Given the description of an element on the screen output the (x, y) to click on. 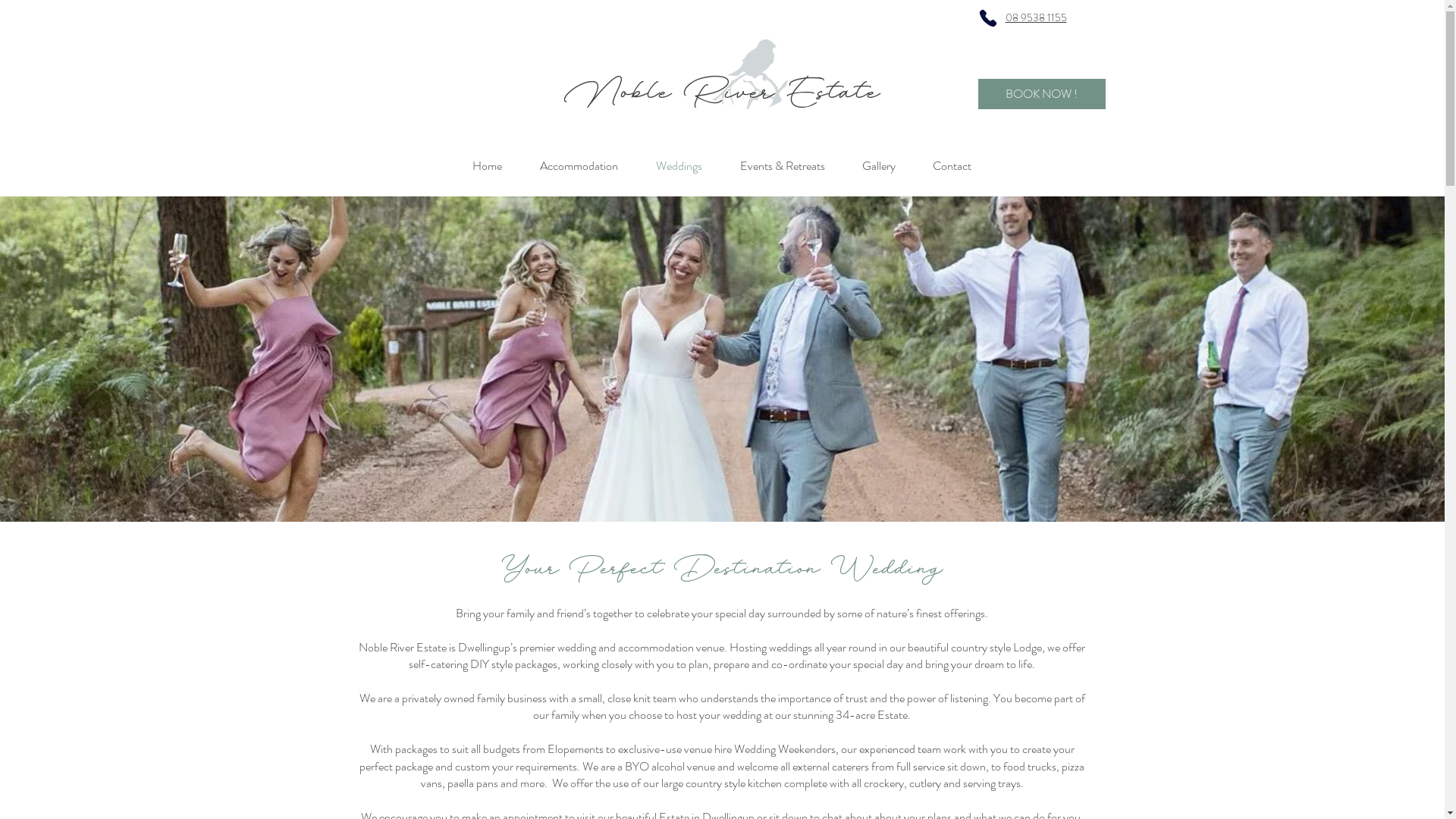
Home Element type: text (486, 165)
Weddings Element type: text (679, 165)
08 9538 1155 Element type: text (1035, 17)
Gallery Element type: text (878, 165)
Contact Element type: text (952, 165)
Accommodation Element type: text (578, 165)
BOOK NOW ! Element type: text (1041, 93)
Events & Retreats Element type: text (781, 165)
